Given the description of an element on the screen output the (x, y) to click on. 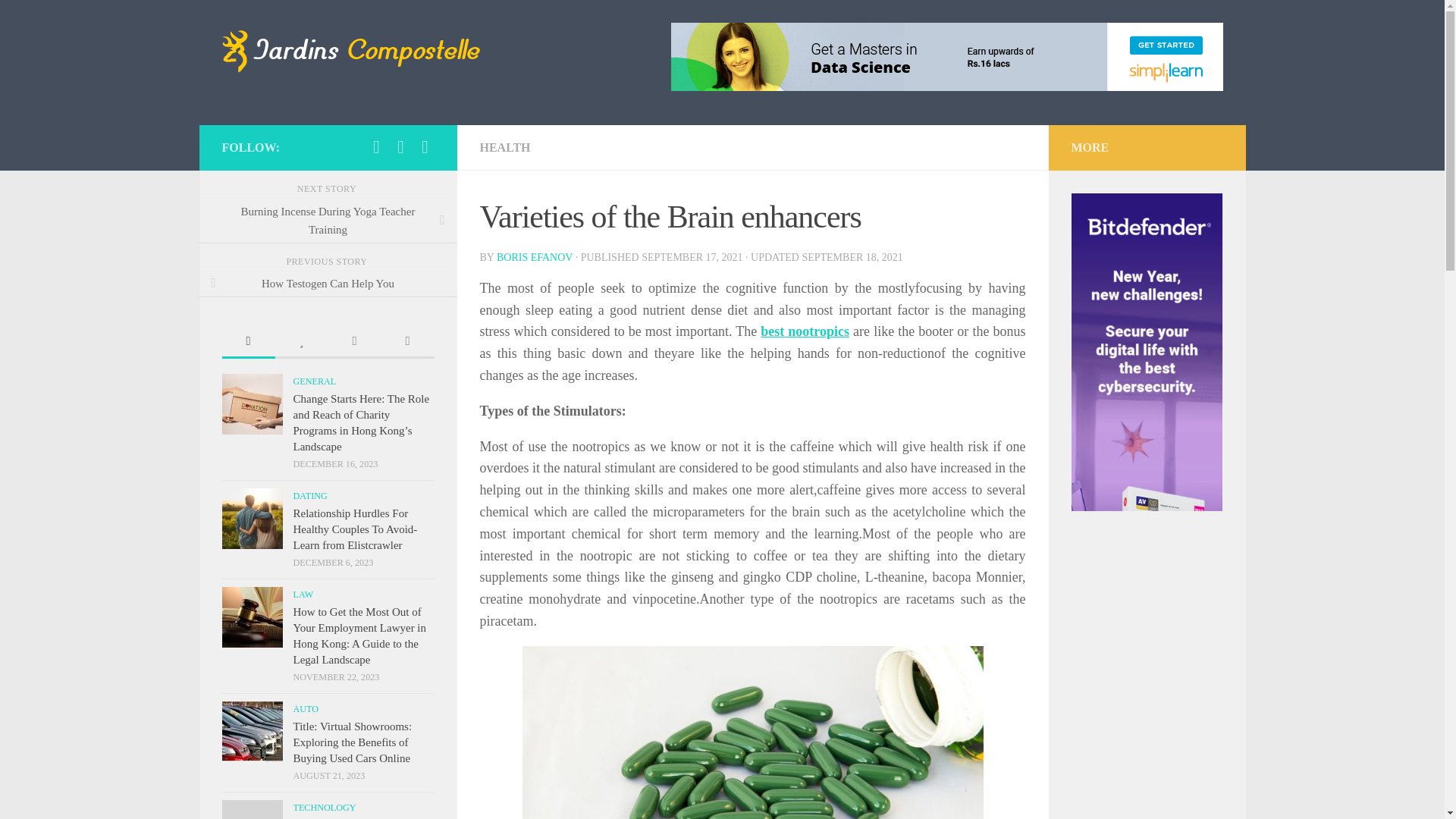
Follow us on Facebook (423, 147)
Popular Posts (301, 341)
best nootropics (804, 331)
BORIS EFANOV (534, 256)
DATING (309, 495)
Follow us on Twitter (400, 147)
Follow us on Instagram (375, 147)
